Given the description of an element on the screen output the (x, y) to click on. 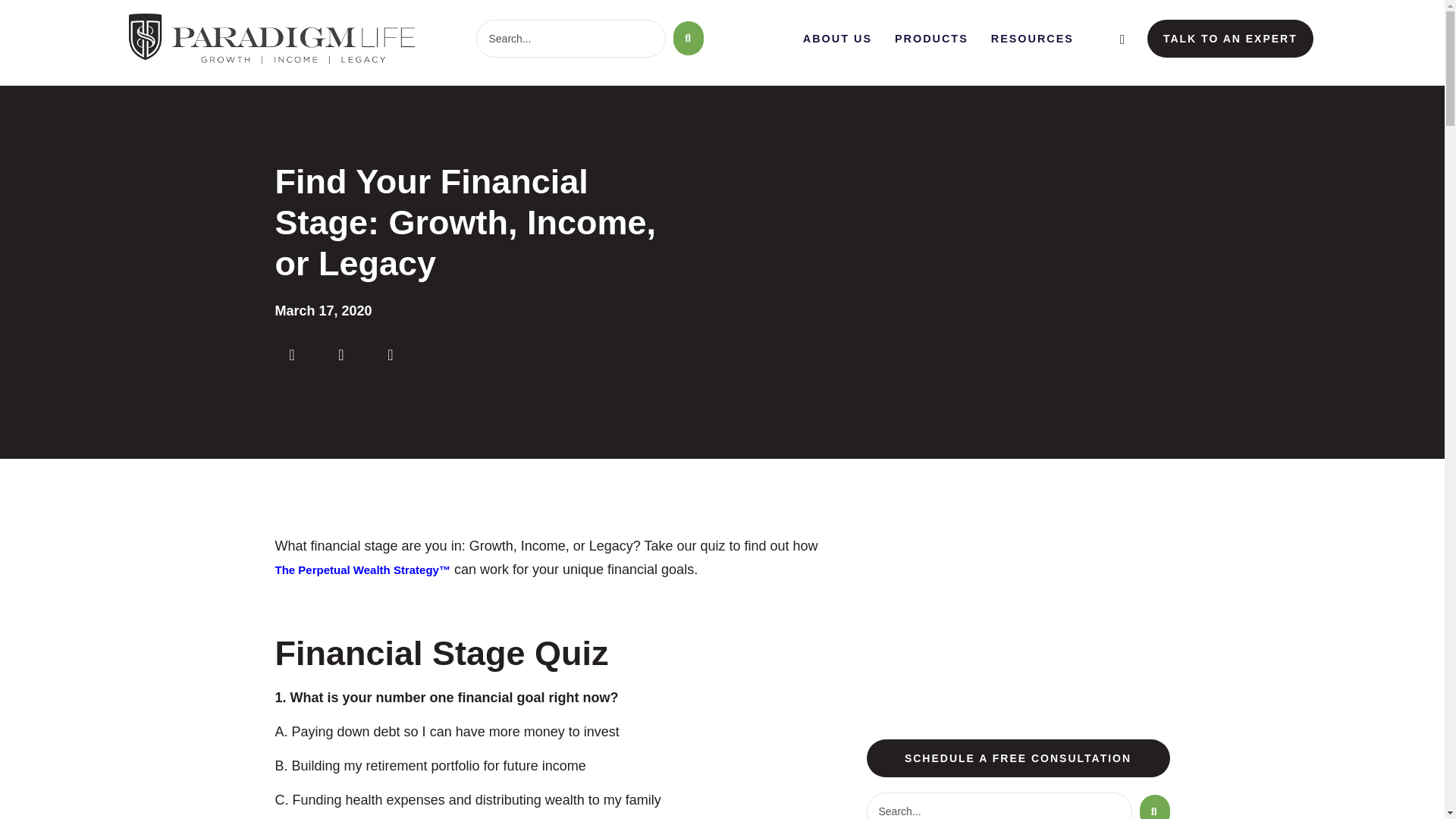
PRODUCTS (930, 38)
RESOURCES (1032, 38)
ABOUT US (836, 38)
